Given the description of an element on the screen output the (x, y) to click on. 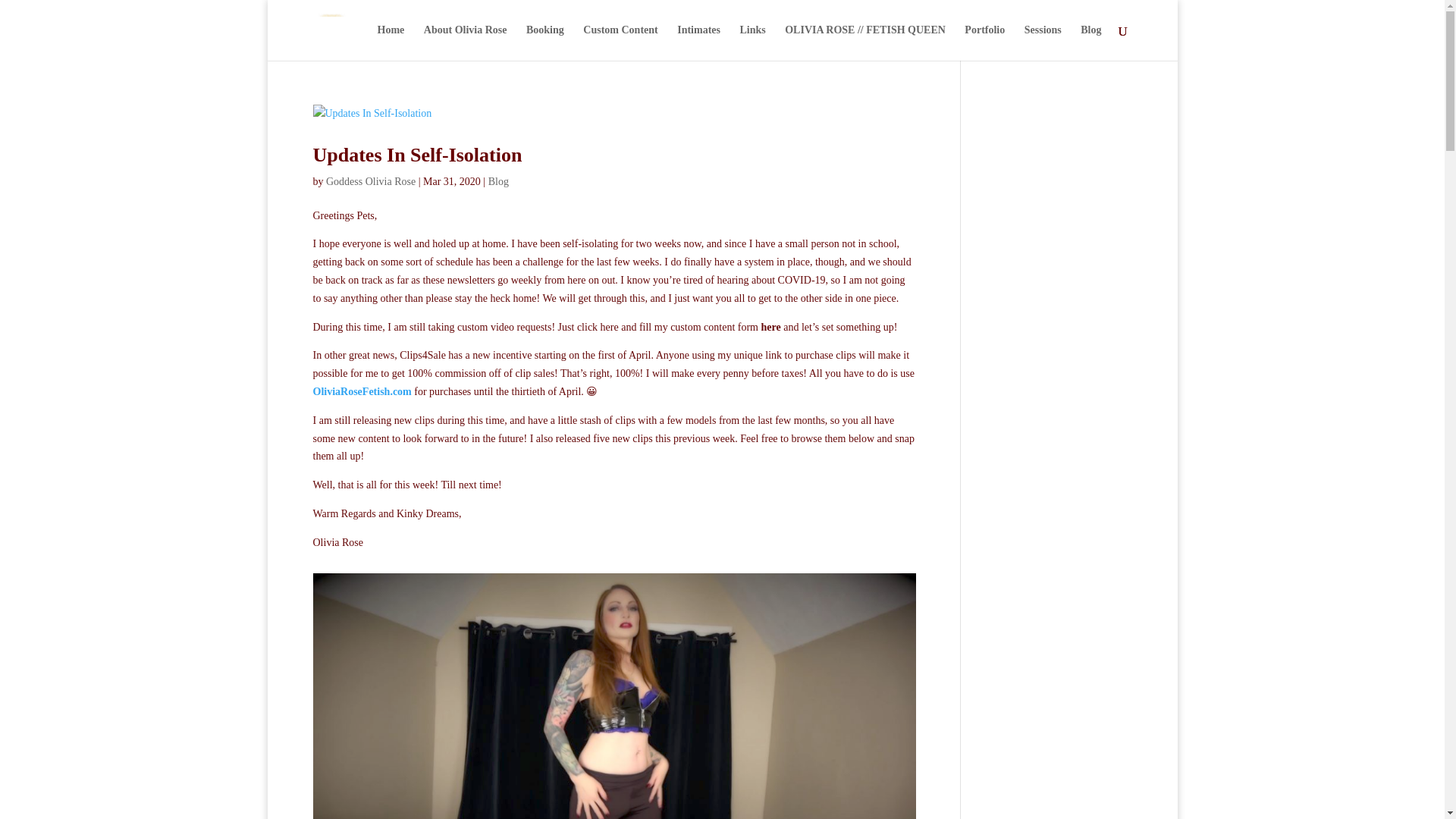
Blog (497, 181)
Custom Content (620, 42)
About Olivia Rose (464, 42)
Posts by Goddess Olivia Rose (370, 181)
Goddess Olivia Rose (370, 181)
Portfolio (983, 42)
Sessions (1043, 42)
OliviaRoseFetish.com (361, 391)
Intimates (698, 42)
Updates In Self-Isolation (417, 155)
